Given the description of an element on the screen output the (x, y) to click on. 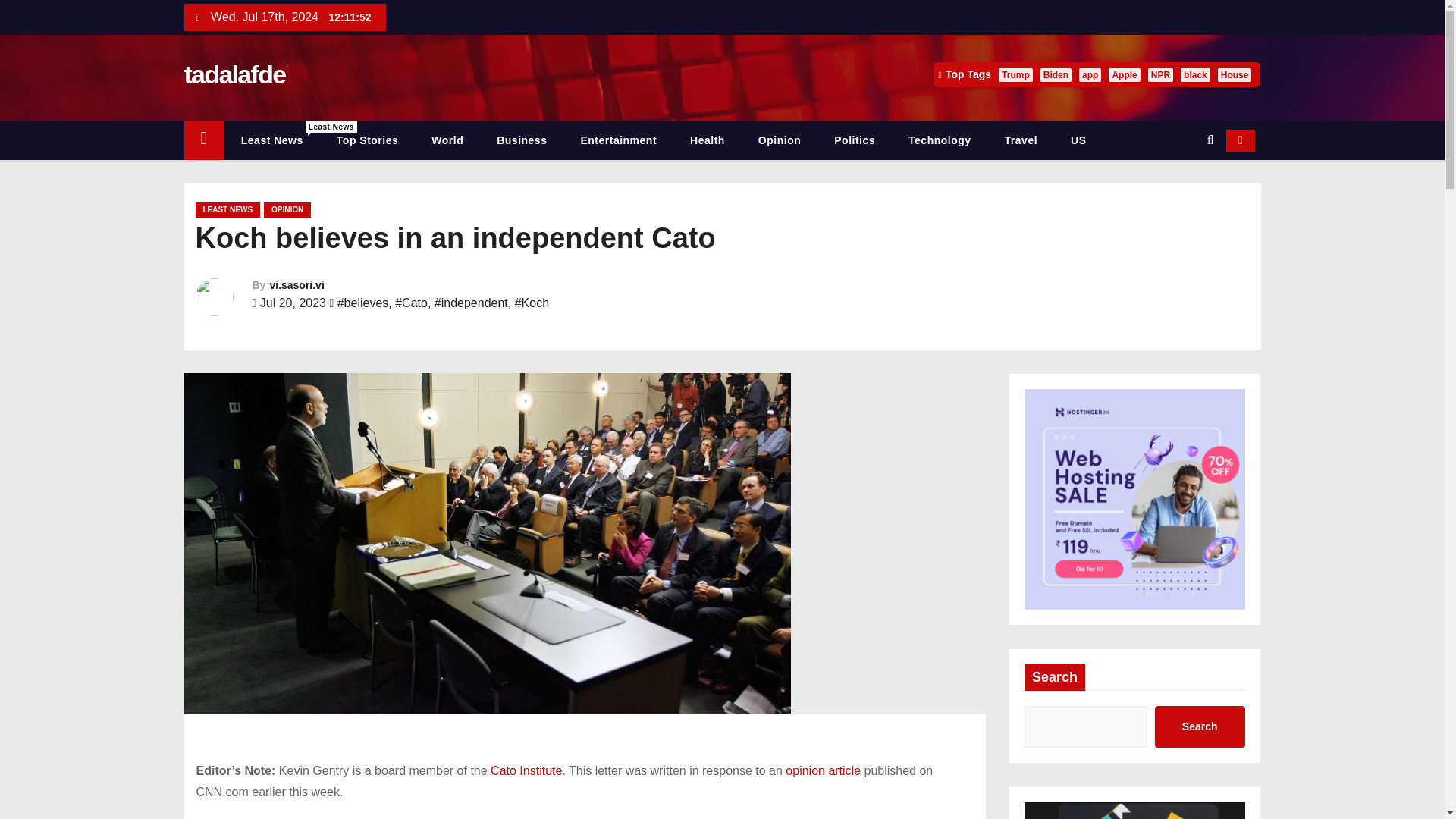
Top Stories (367, 140)
Politics (853, 140)
opinion article (823, 770)
Entertainment (617, 140)
LEAST NEWS (227, 209)
US (1078, 140)
black (1194, 74)
Health (706, 140)
Opinion (778, 140)
NPR (1160, 74)
vi.sasori.vi (296, 285)
Entertainment (617, 140)
Business (521, 140)
OPINION (287, 209)
